Given the description of an element on the screen output the (x, y) to click on. 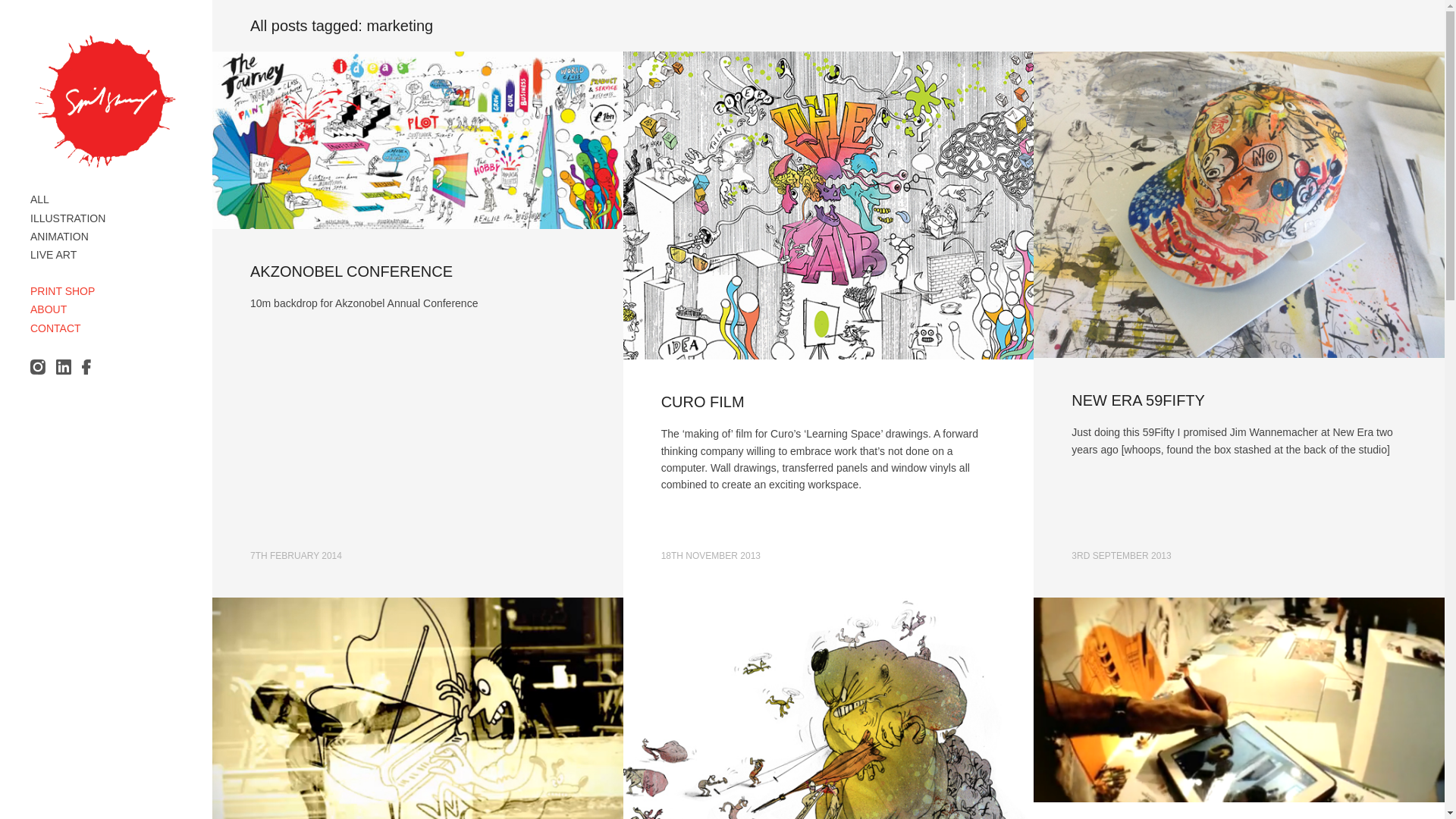
7TH FEBRUARY 2014 (296, 555)
3:14 am (296, 555)
Permalink to Curo Film (702, 401)
LIVE ART (53, 254)
LinkedIn (63, 366)
ABOUT (48, 309)
Permalink to Akzonobel Conference (417, 140)
Facebook (89, 366)
CURO FILM (702, 401)
Permalink to New Era 59Fifty (1138, 400)
